Given the description of an element on the screen output the (x, y) to click on. 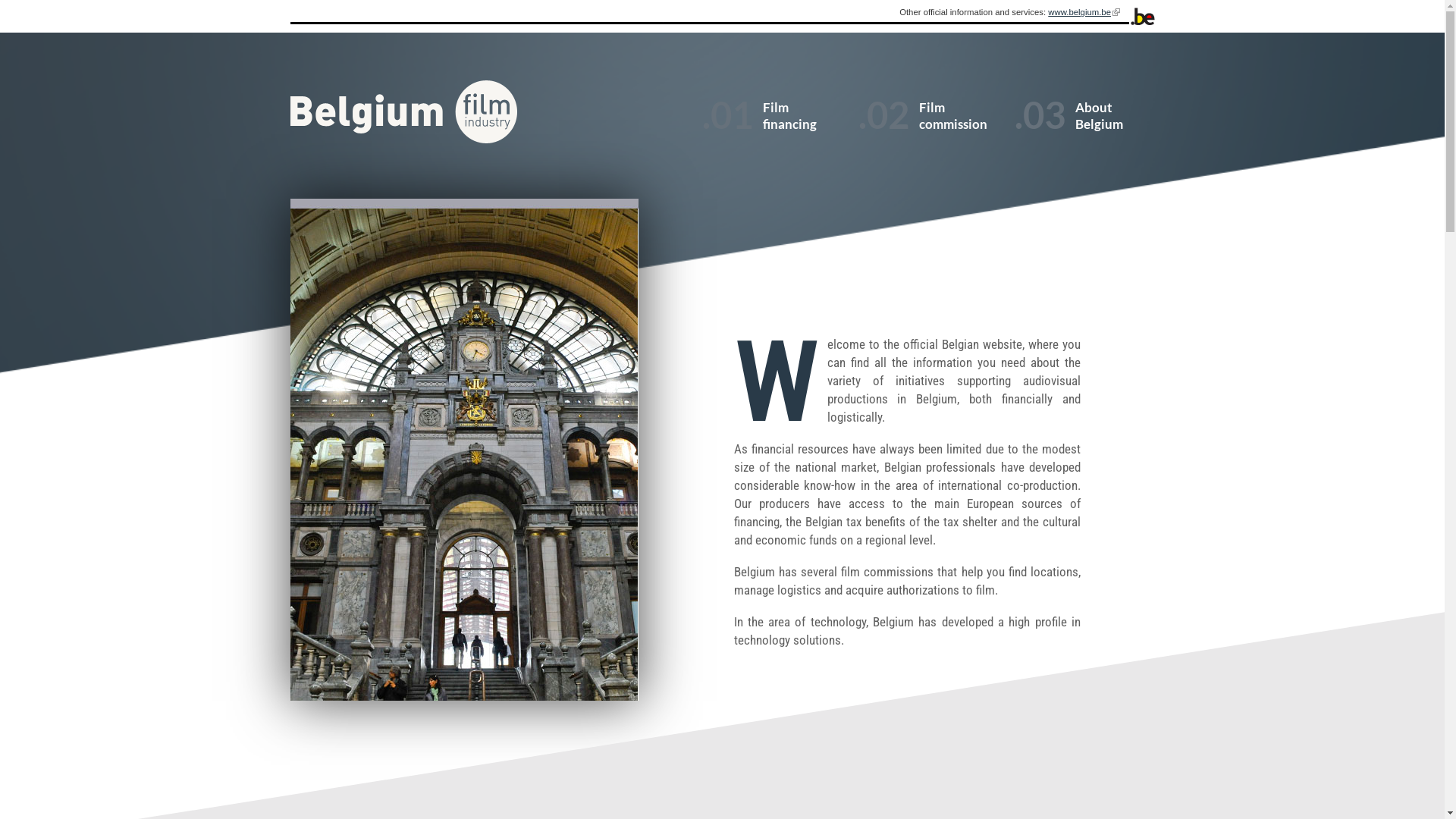
Skip to main content Element type: text (42, 0)
Home Element type: hover (402, 111)
Film commission Element type: text (915, 134)
About Belgium Element type: text (1071, 134)
Film financing Element type: text (759, 134)
www.belgium.be
(link is external) Element type: text (1084, 11)
